Given the description of an element on the screen output the (x, y) to click on. 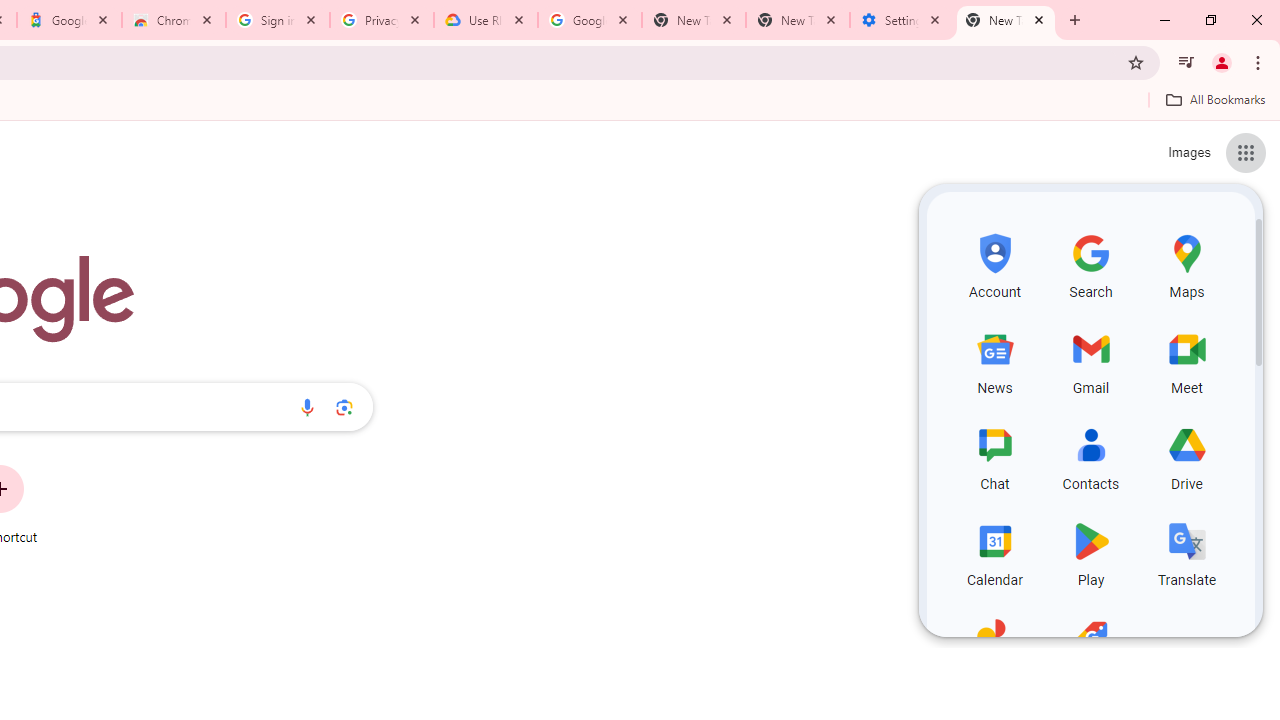
Maps, row 1 of 5 and column 3 of 3 in the first section (1186, 263)
Gmail, row 2 of 5 and column 2 of 3 in the first section (1090, 359)
Translate, row 4 of 5 and column 3 of 3 in the first section (1186, 551)
Play, row 4 of 5 and column 2 of 3 in the first section (1090, 551)
Chat, row 3 of 5 and column 1 of 3 in the first section (994, 455)
Calendar, row 4 of 5 and column 1 of 3 in the first section (994, 551)
Settings - System (901, 20)
Sign in - Google Accounts (278, 20)
